Given the description of an element on the screen output the (x, y) to click on. 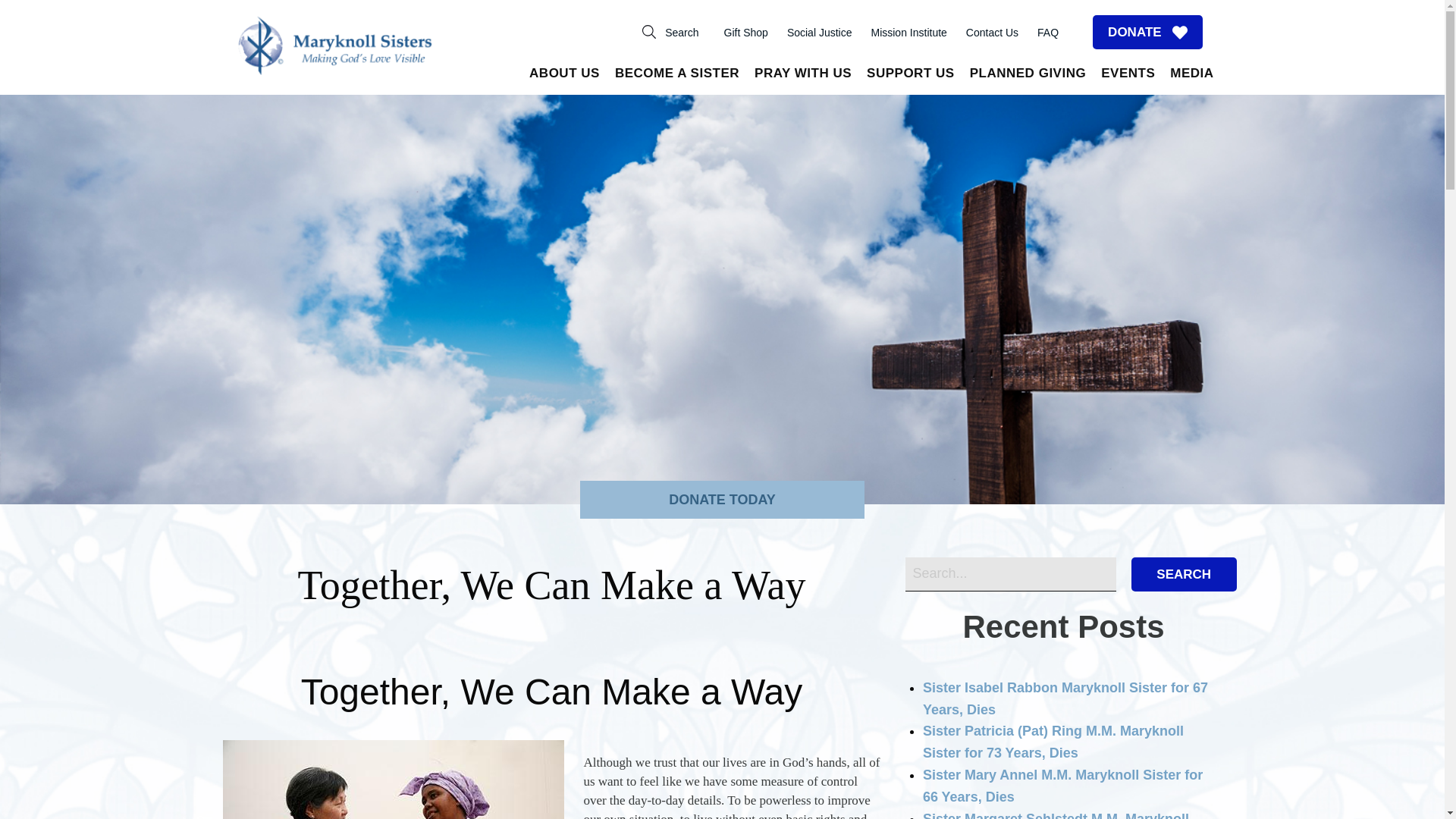
DONATE (1147, 32)
Search (1183, 574)
PRAY WITH US (802, 75)
Search (670, 31)
ABOUT US (564, 75)
Social Justice (819, 33)
SUPPORT US (910, 75)
FAQ (1047, 33)
MEDIA (1191, 75)
Contact Us (991, 33)
Mission Institute (908, 33)
PLANNED GIVING (1027, 75)
Gift Shop (745, 33)
EVENTS (1127, 75)
